Given the description of an element on the screen output the (x, y) to click on. 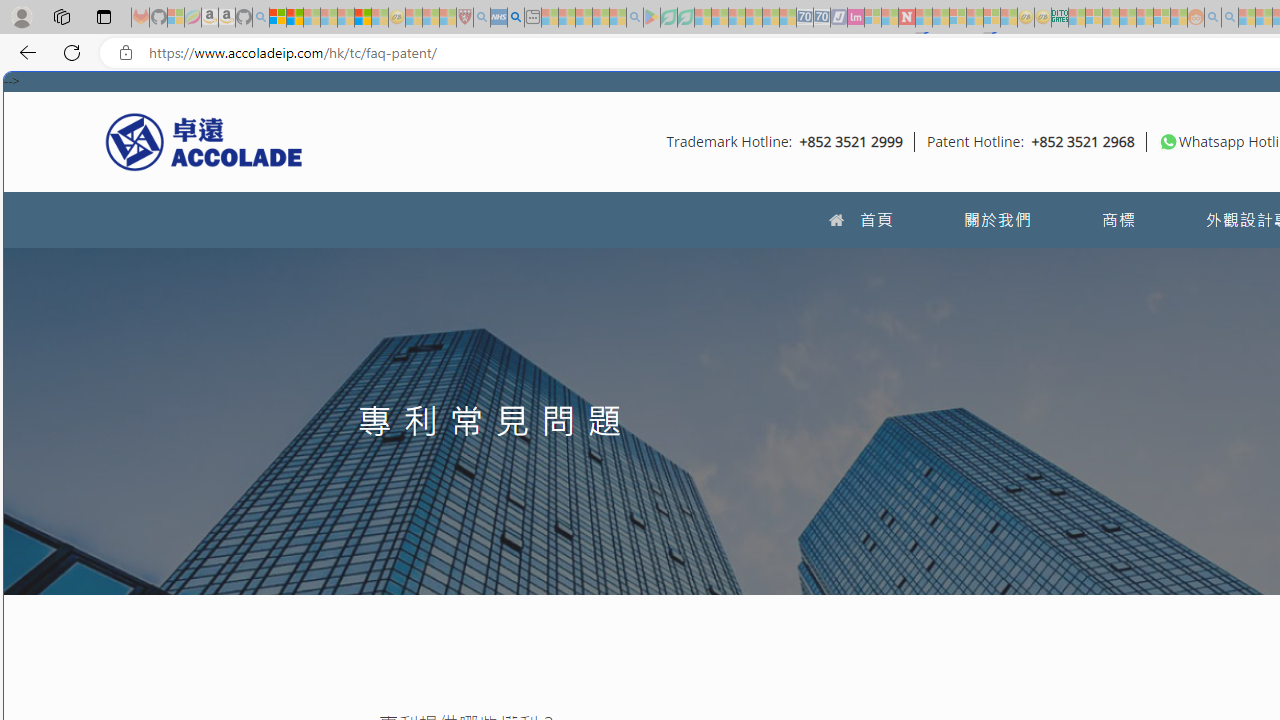
Pets - MSN - Sleeping (600, 17)
utah sues federal government - Search (515, 17)
google - Search - Sleeping (634, 17)
Terms of Use Agreement - Sleeping (668, 17)
Kinda Frugal - MSN - Sleeping (1144, 17)
